Given the description of an element on the screen output the (x, y) to click on. 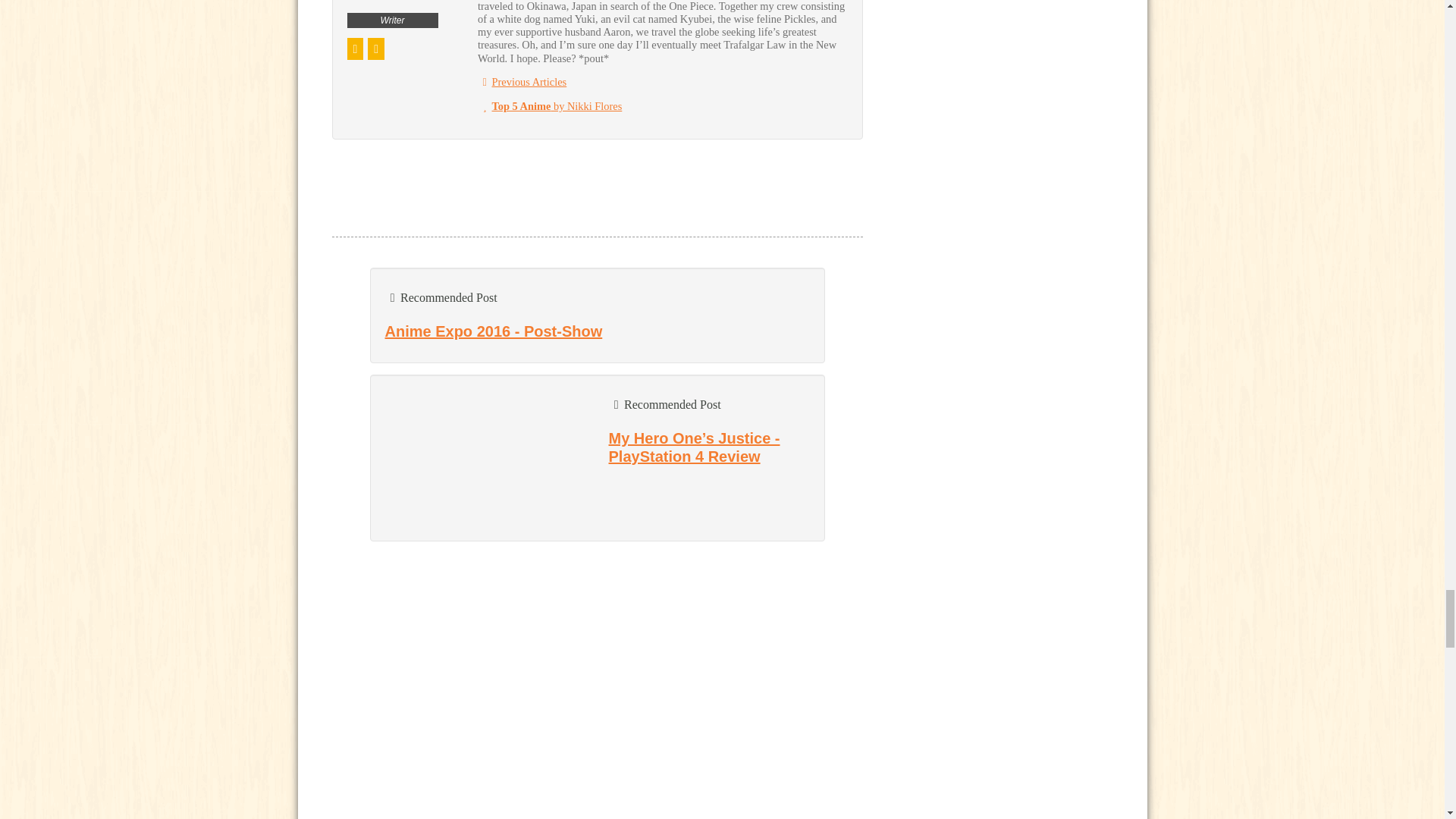
Previous Articles (521, 81)
Top 5 Anime by Nikki Flores (549, 105)
Anime Expo 2016 - Post-Show (493, 330)
